Given the description of an element on the screen output the (x, y) to click on. 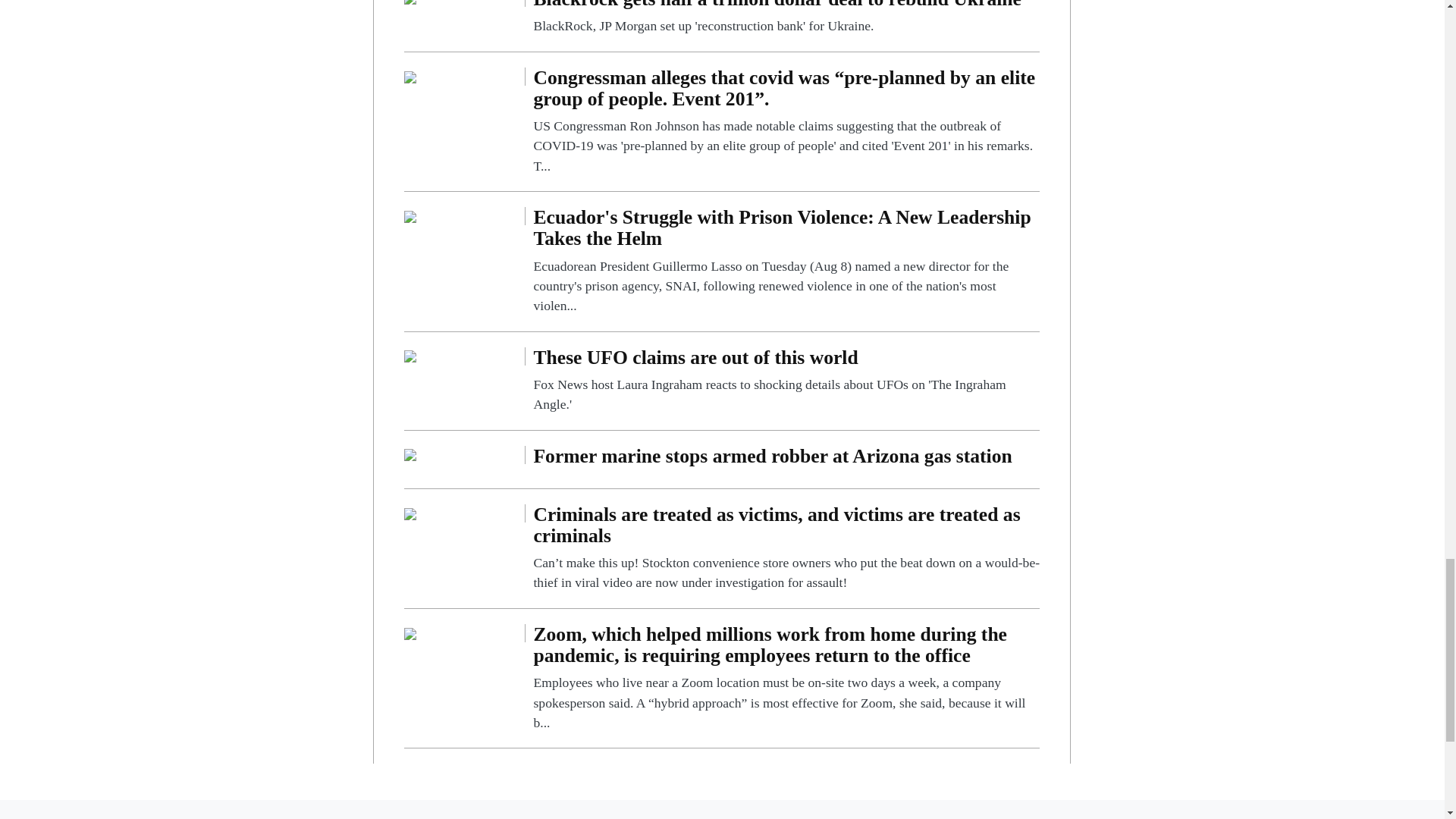
These UFO claims are out of this world (410, 355)
Former marine stops armed robber at Arizona gas station (785, 459)
Former marine stops armed robber at Arizona gas station (785, 459)
These UFO claims are out of this world (785, 380)
Former marine stops armed robber at Arizona gas station (410, 454)
